Given the description of an element on the screen output the (x, y) to click on. 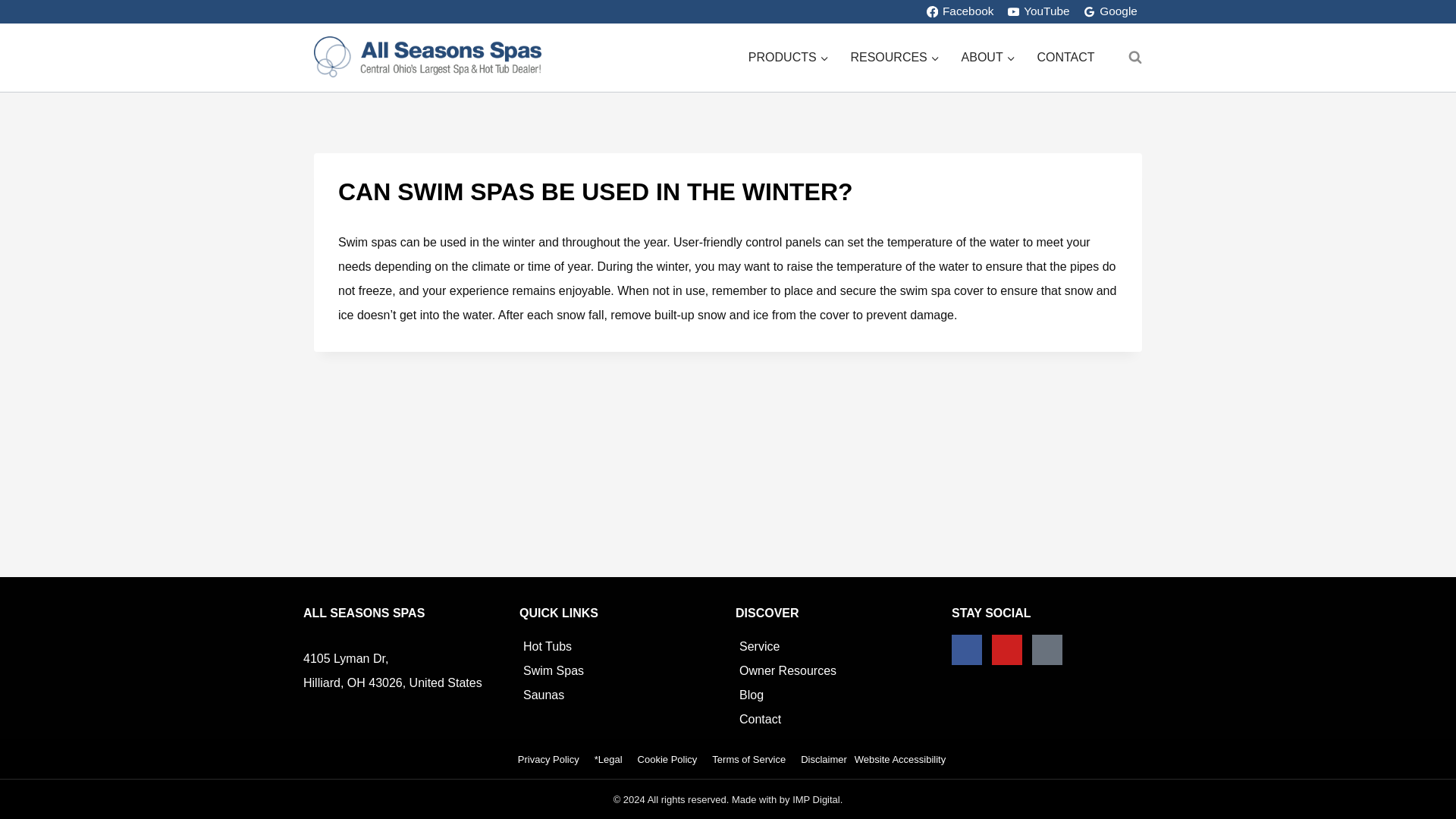
YouTube (1038, 11)
Hot Tubs (547, 645)
RESOURCES (895, 57)
Facebook (959, 11)
Service (758, 645)
Google (1109, 11)
Saunas (543, 694)
PRODUCTS (788, 57)
Swim Spas (552, 670)
CONTACT (1065, 57)
ABOUT (988, 57)
